Given the description of an element on the screen output the (x, y) to click on. 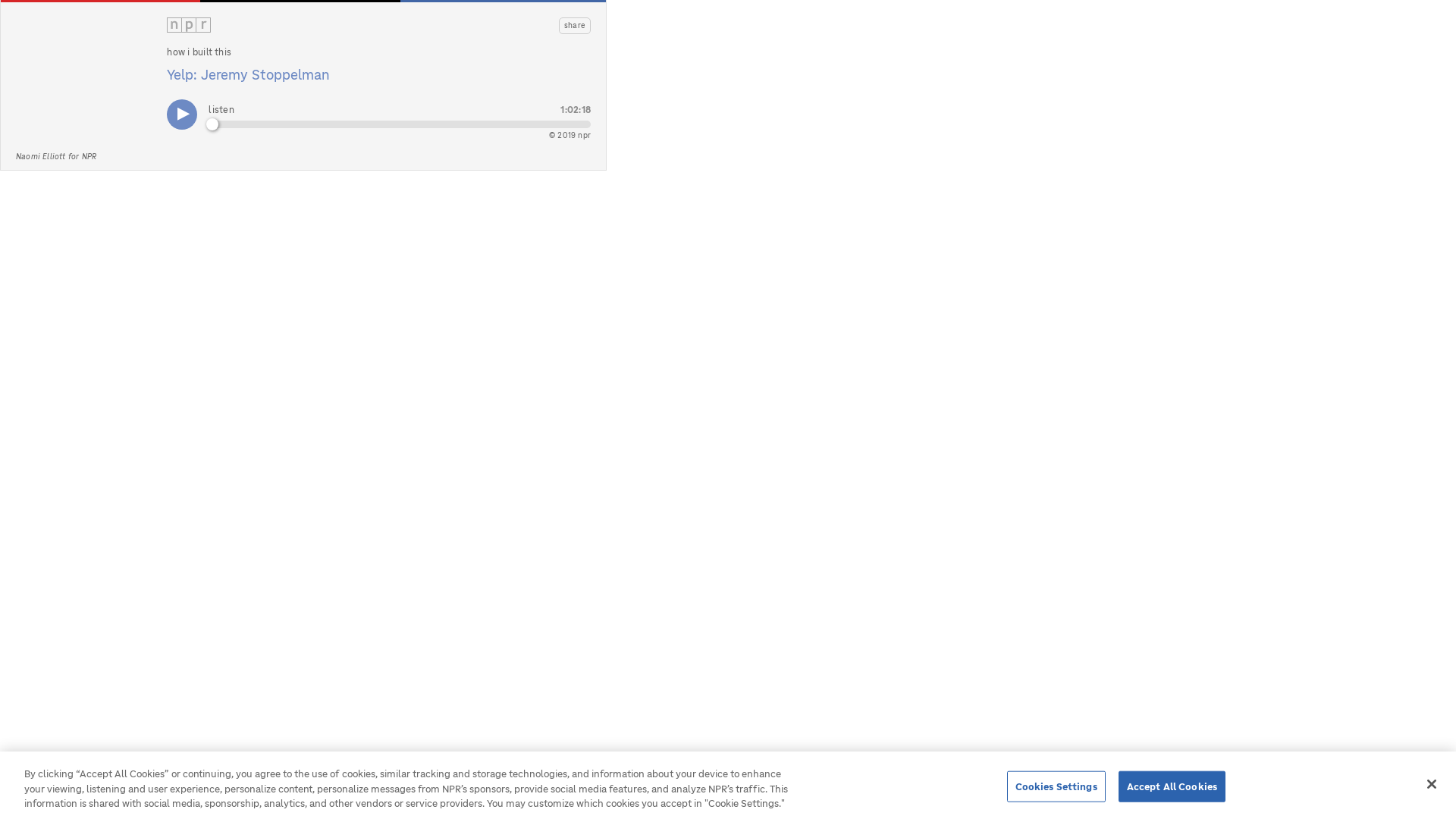
share (575, 25)
Yelp: Jeremy Stoppelman (248, 74)
how i built this (199, 51)
